Given the description of an element on the screen output the (x, y) to click on. 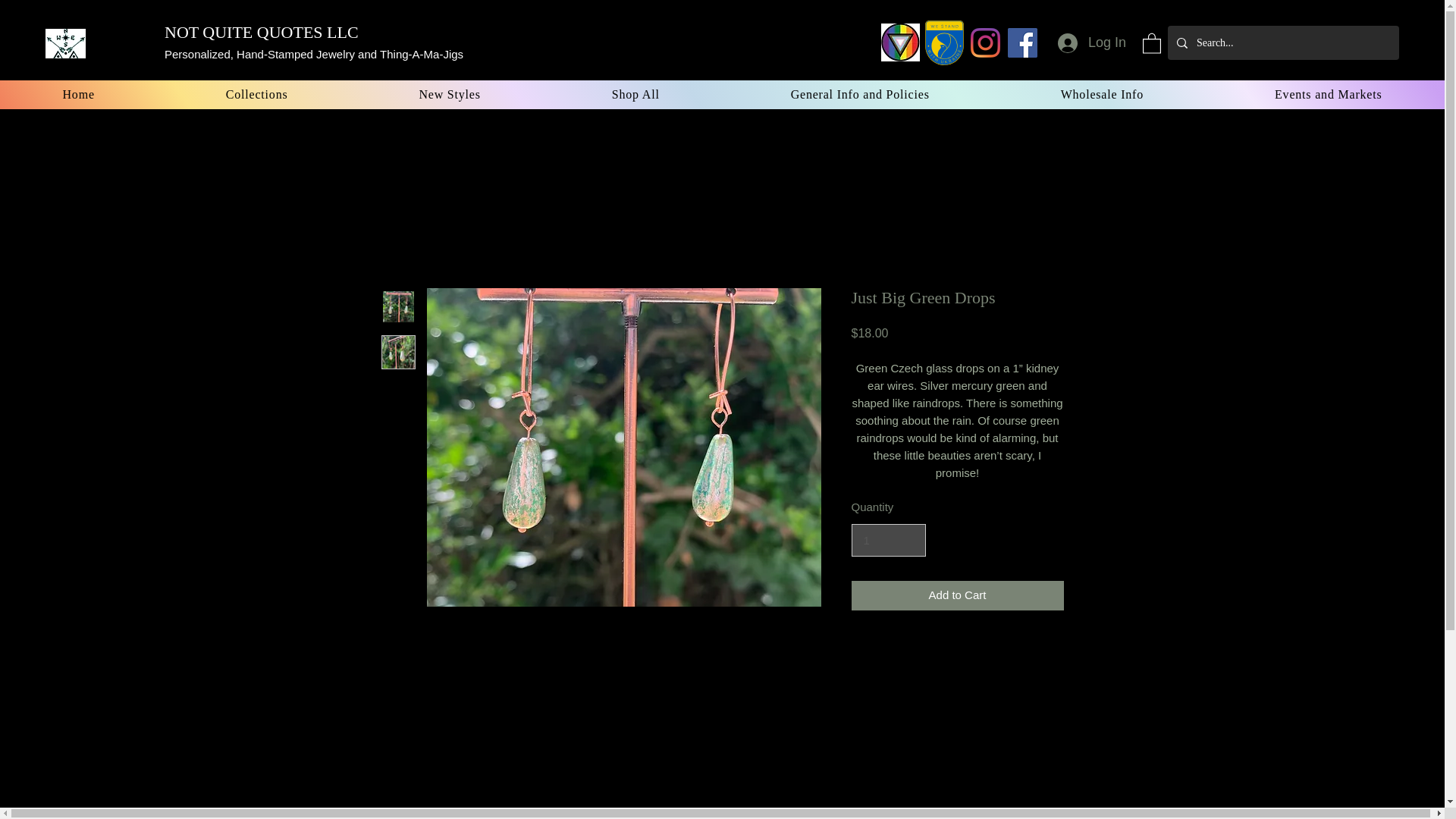
General Info and Policies (859, 94)
Shop All (635, 94)
Add to Cart (956, 595)
Log In (1091, 42)
Home (78, 94)
Events and Markets (1328, 94)
New Styles (449, 94)
1 (887, 540)
NOT QUITE QUOTES (243, 31)
Wholesale Info (1101, 94)
